Given the description of an element on the screen output the (x, y) to click on. 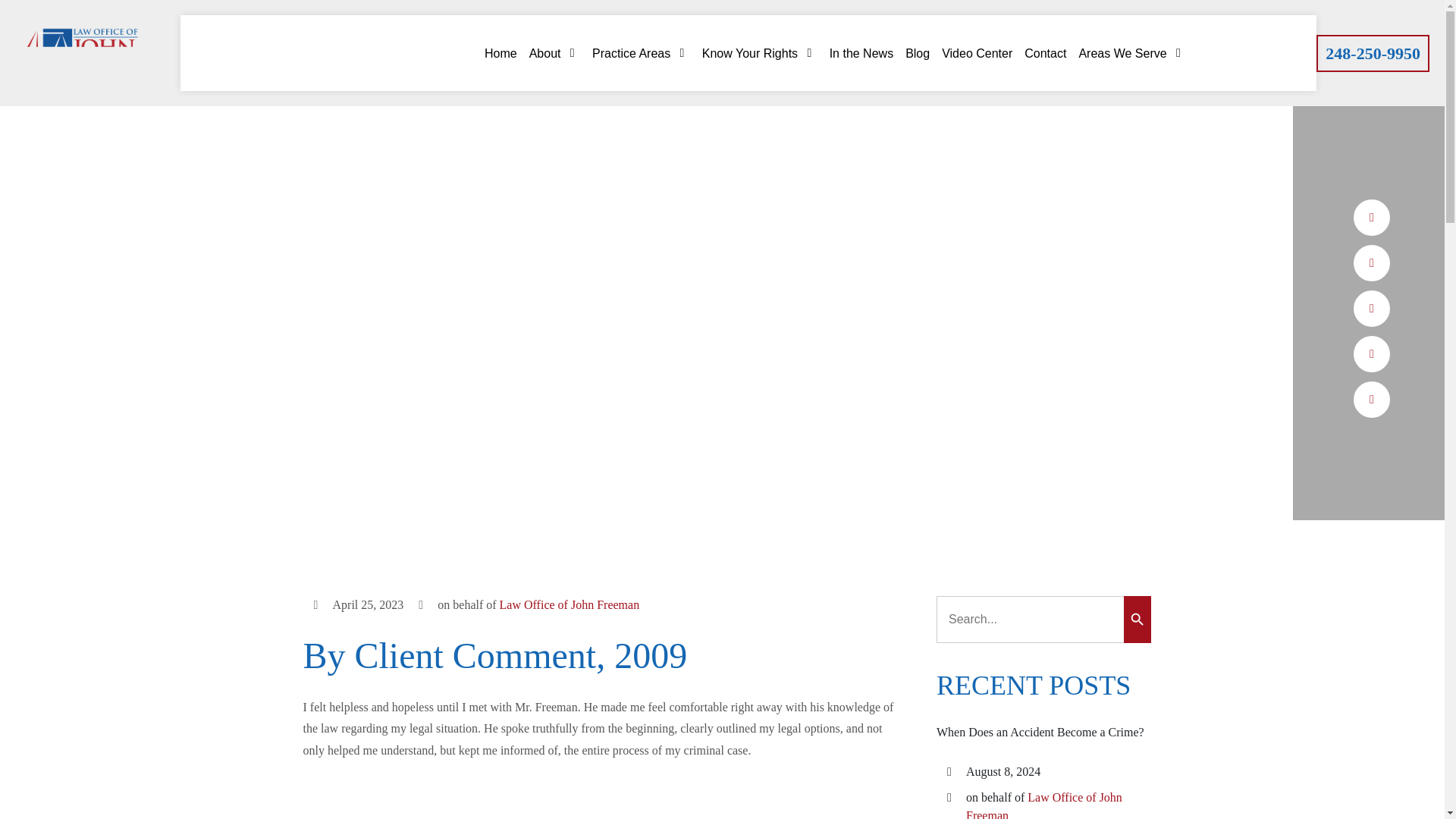
About (554, 53)
Practice Areas (641, 53)
Home (500, 53)
